Given the description of an element on the screen output the (x, y) to click on. 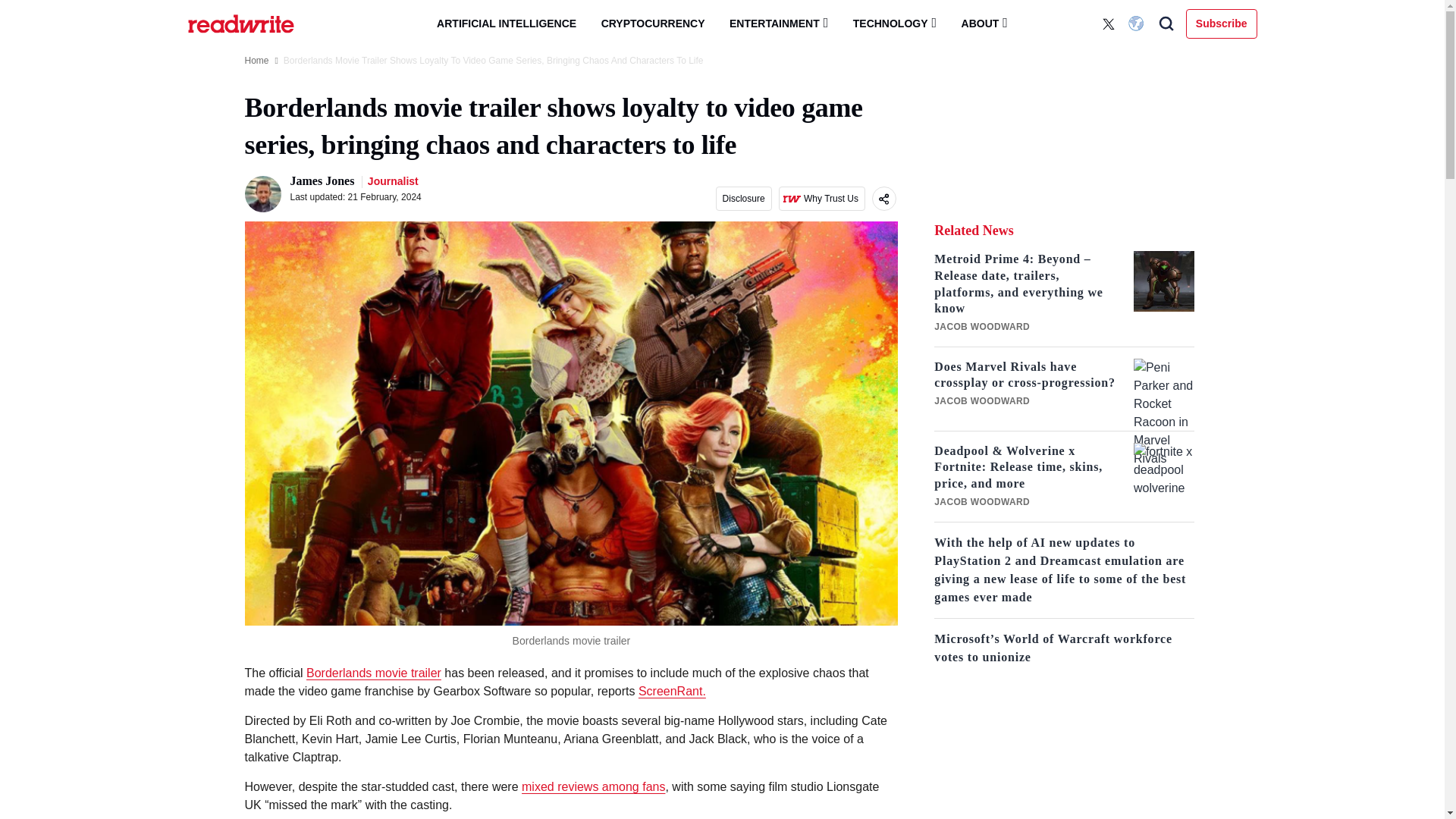
Home (255, 60)
CRYPTOCURRENCY (653, 23)
ABOUT (983, 23)
ARTIFICIAL INTELLIGENCE (506, 23)
English (1137, 23)
TECHNOLOGY (895, 23)
Subscribe (1221, 23)
ENTERTAINMENT (778, 23)
